Given the description of an element on the screen output the (x, y) to click on. 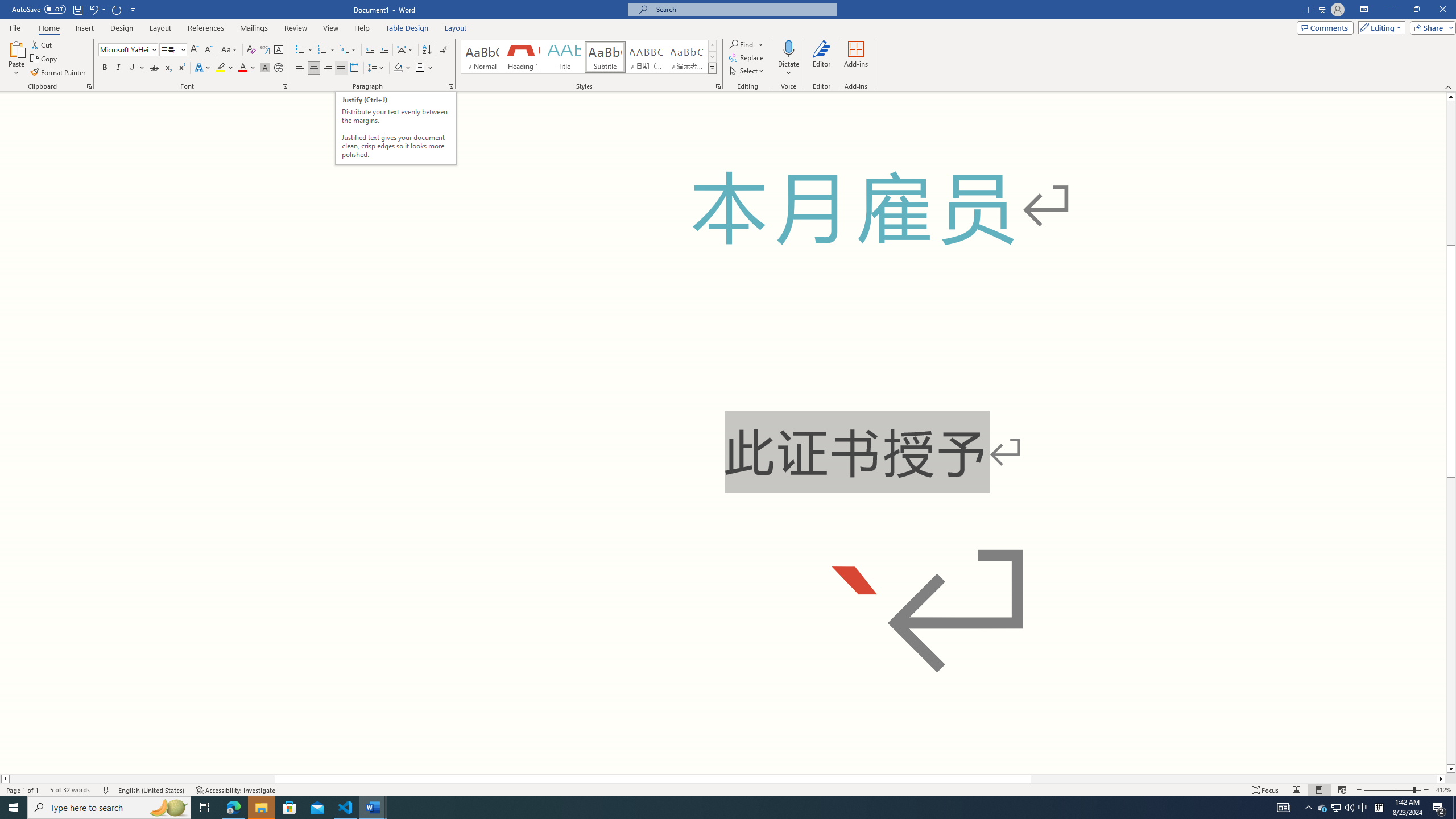
Line up (1450, 96)
Shading RGB(0, 0, 0) (397, 67)
Office Clipboard... (88, 85)
Font Color (246, 67)
Page 1 content (722, 432)
Microsoft search (742, 9)
Line down (1450, 768)
Page left (142, 778)
